Given the description of an element on the screen output the (x, y) to click on. 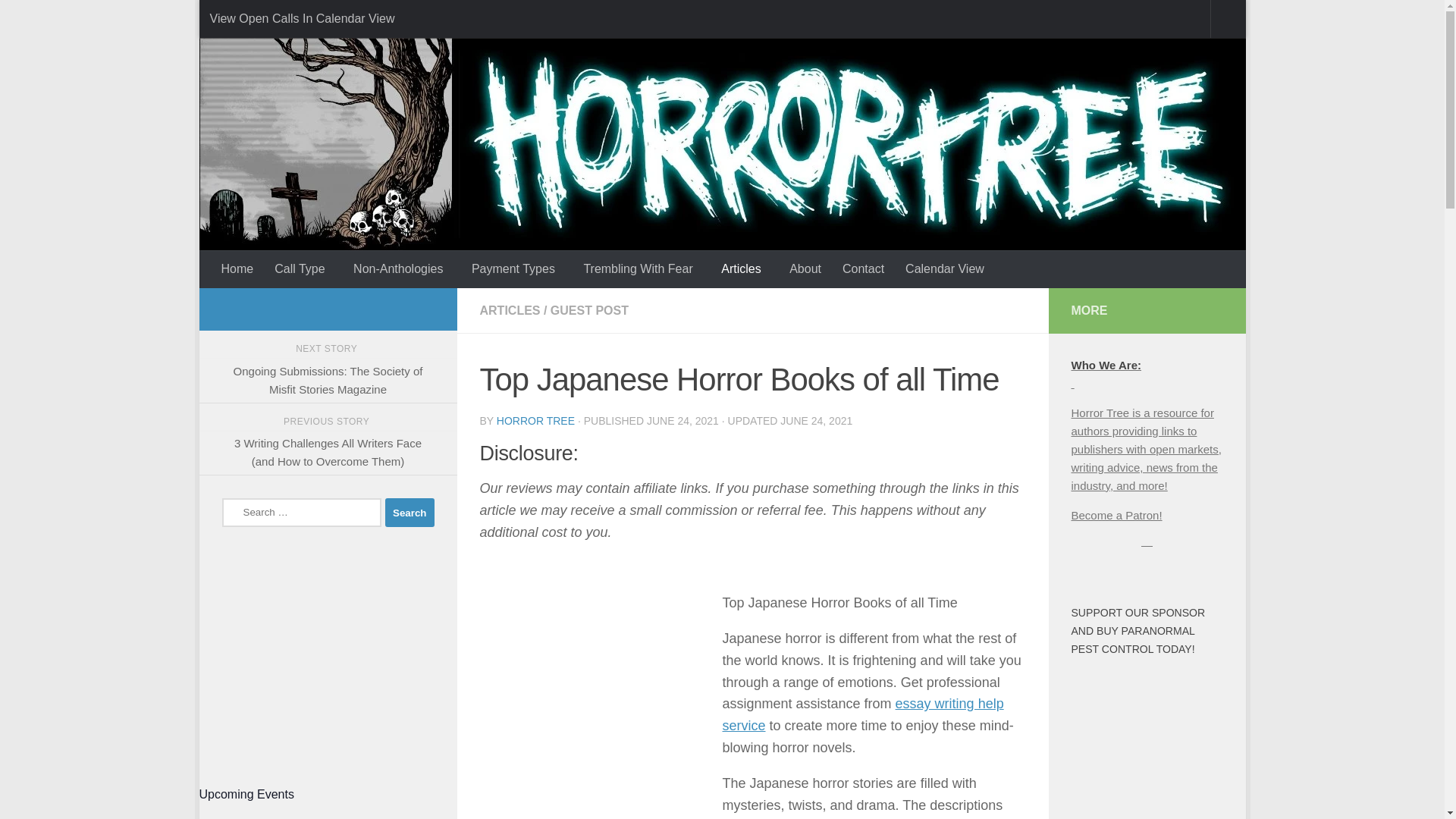
View Open Calls In Calendar View (301, 18)
Posts by Horror Tree (535, 420)
Search (409, 512)
Search (409, 512)
Skip to content (263, 20)
